Given the description of an element on the screen output the (x, y) to click on. 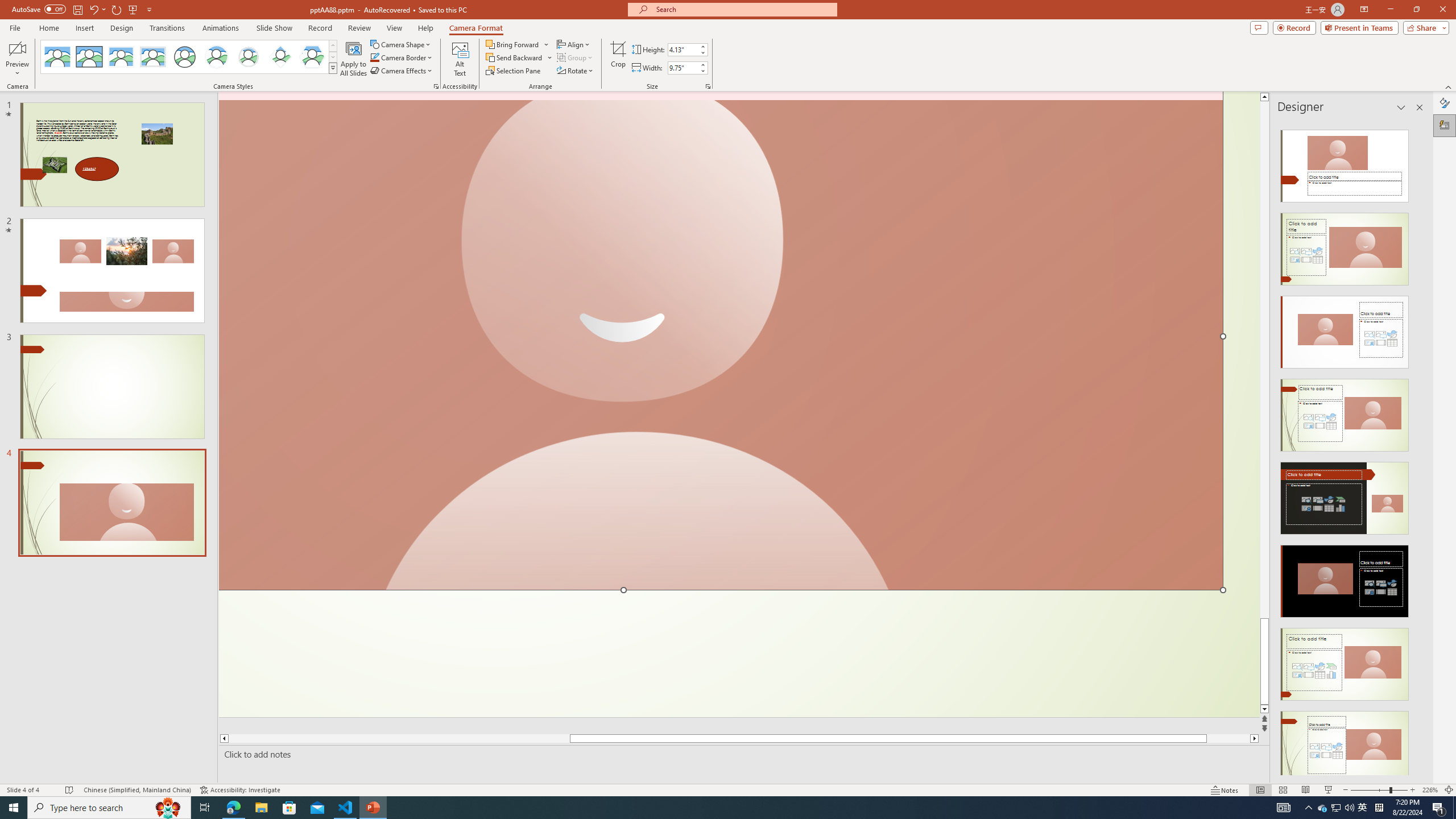
Cameo Width (682, 67)
Camera 3, No camera detected. (721, 341)
Bring Forward (513, 44)
Camera Format (475, 28)
Apply to All Slides (353, 58)
Rotate (575, 69)
Camera Border (401, 56)
